Given the description of an element on the screen output the (x, y) to click on. 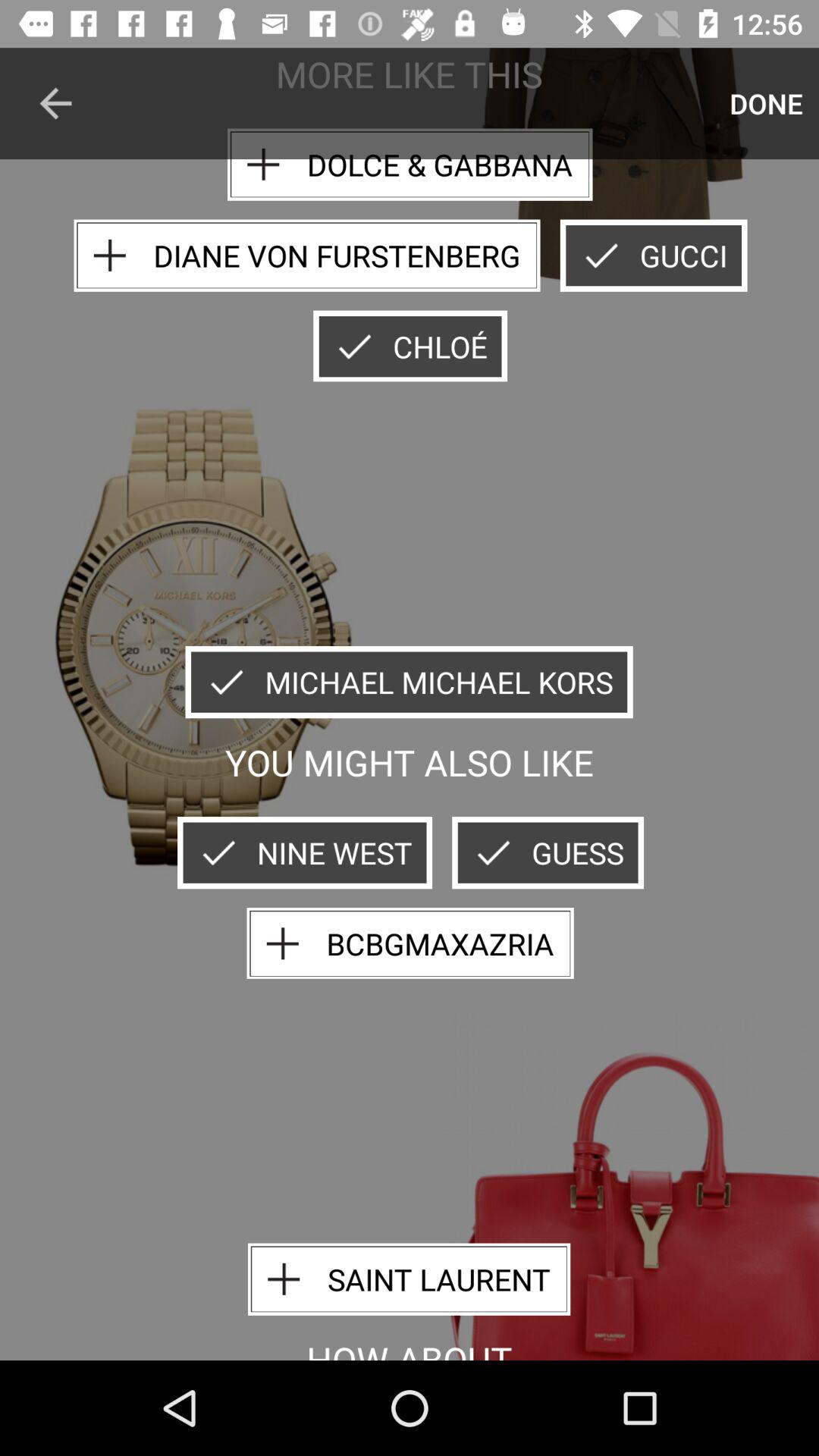
turn on guess on the right (547, 852)
